Given the description of an element on the screen output the (x, y) to click on. 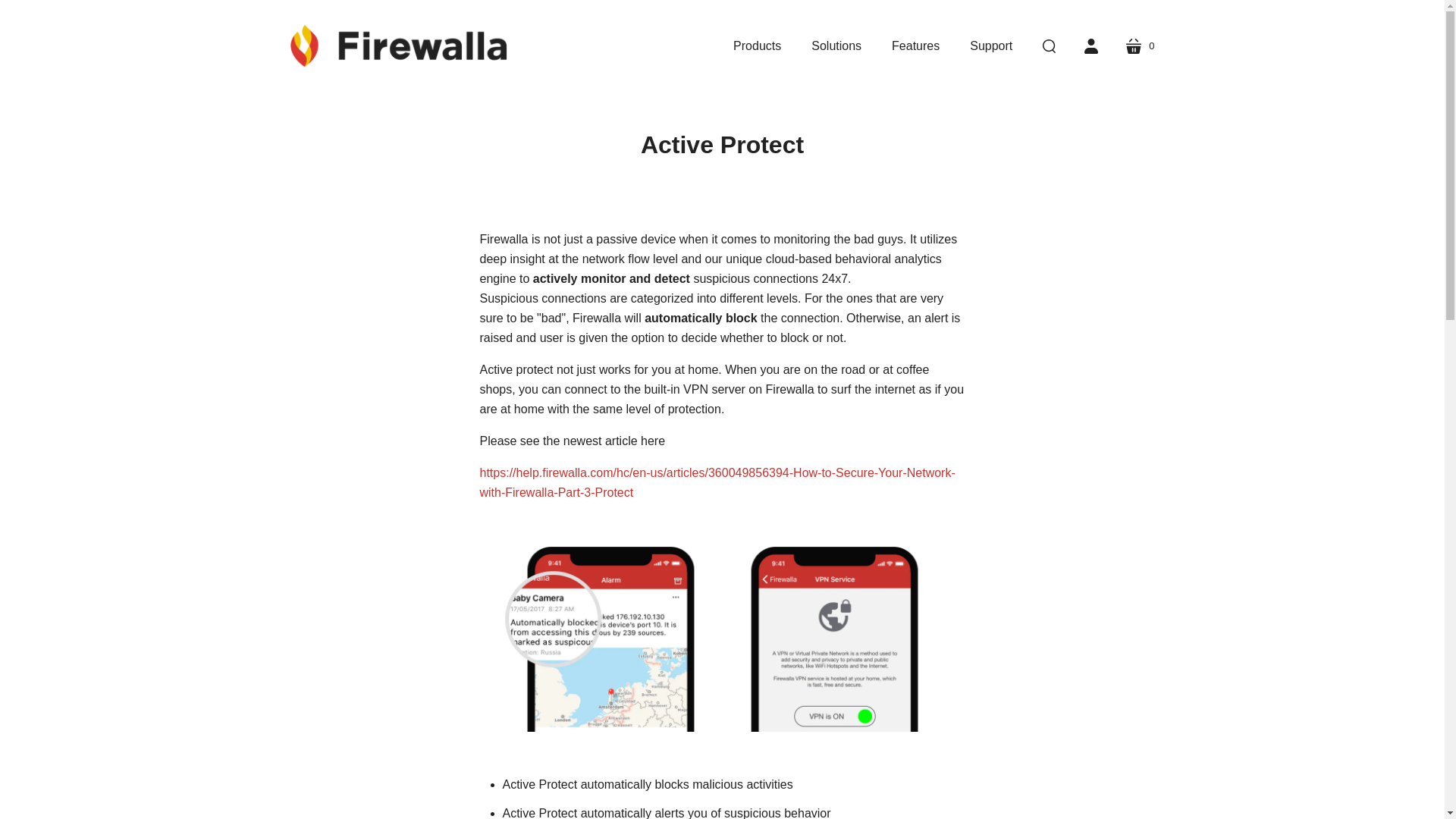
search (1048, 46)
